Given the description of an element on the screen output the (x, y) to click on. 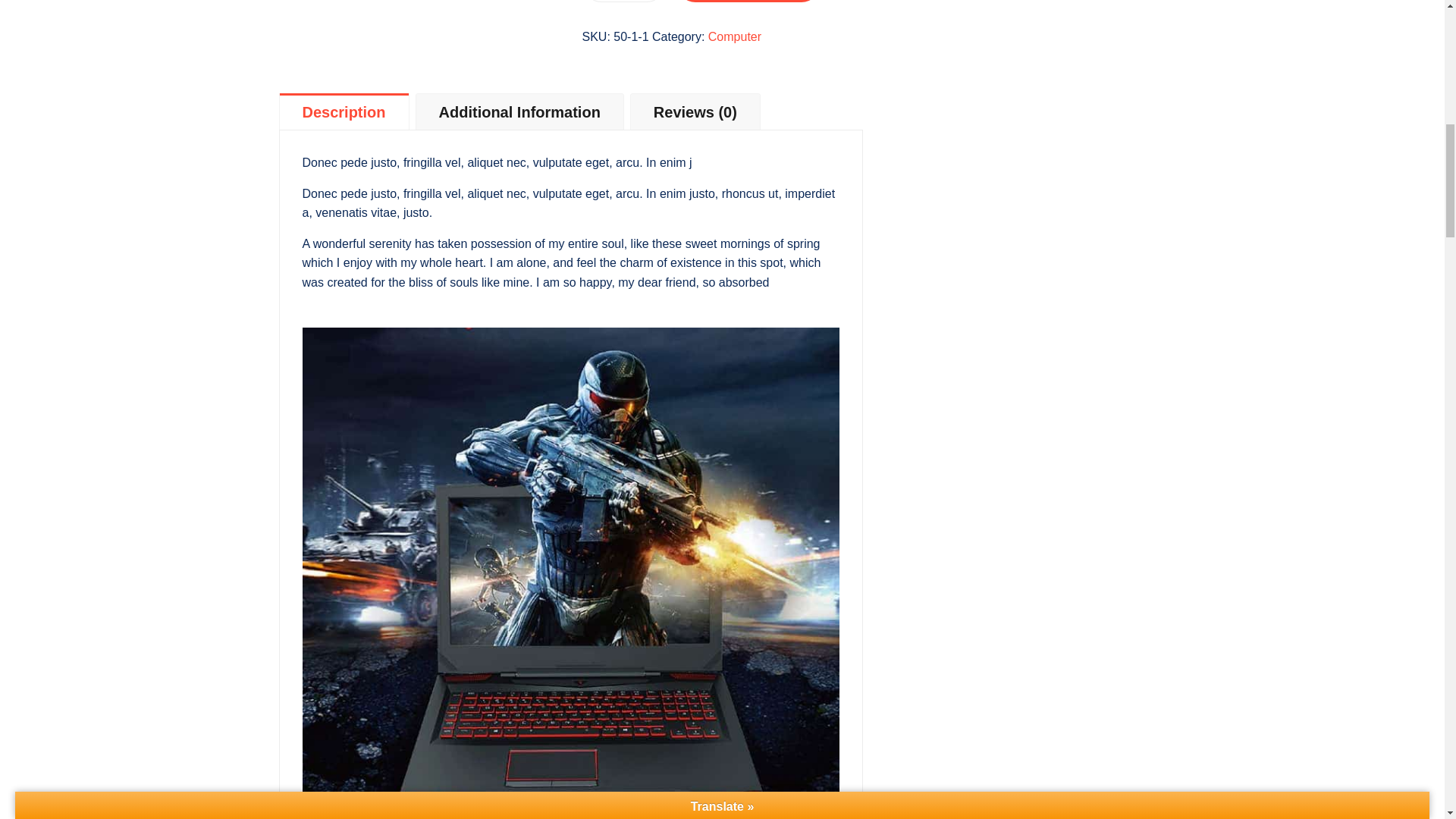
1 (623, 1)
